Given the description of an element on the screen output the (x, y) to click on. 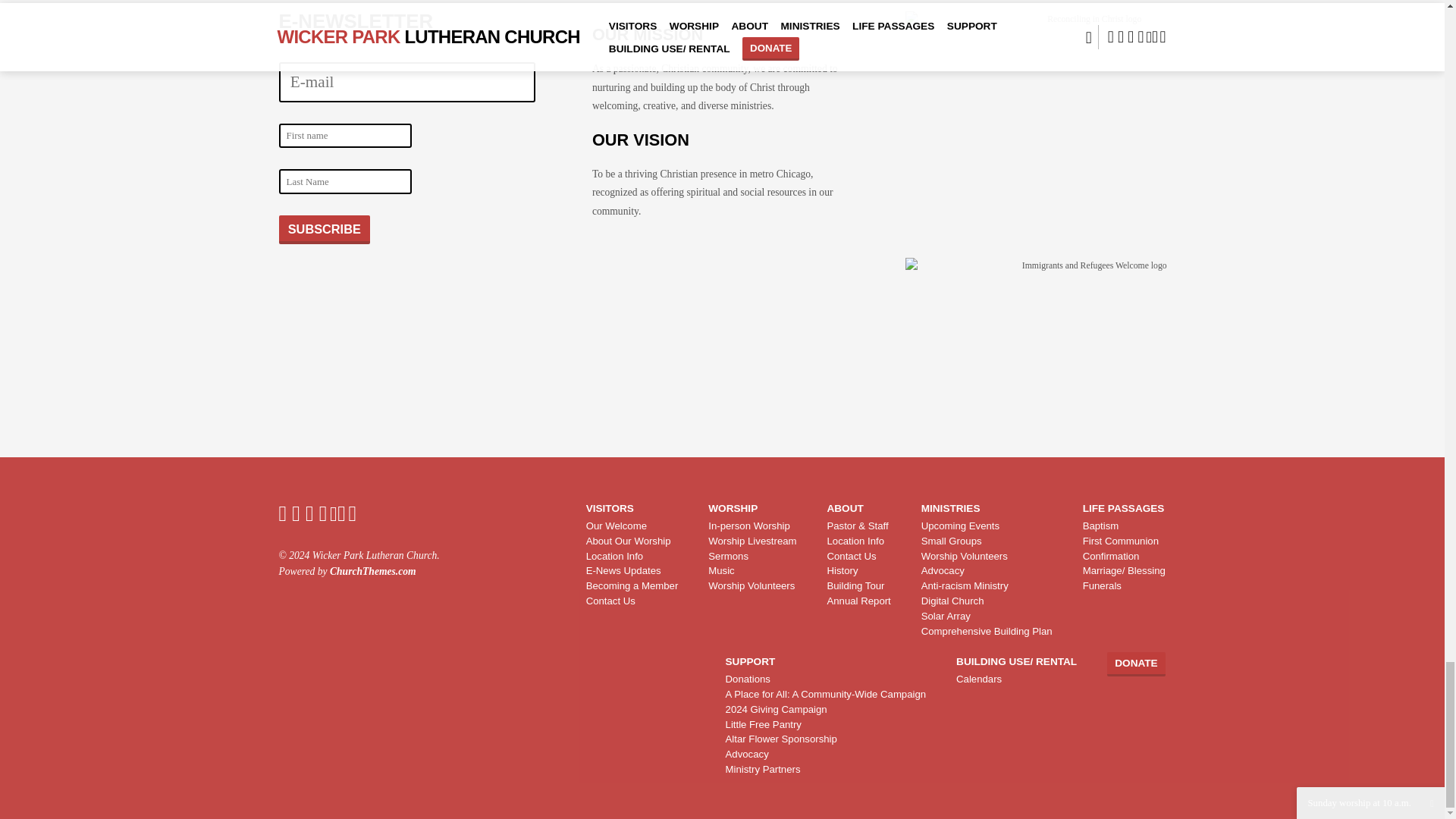
Subscribe (325, 229)
